Given the description of an element on the screen output the (x, y) to click on. 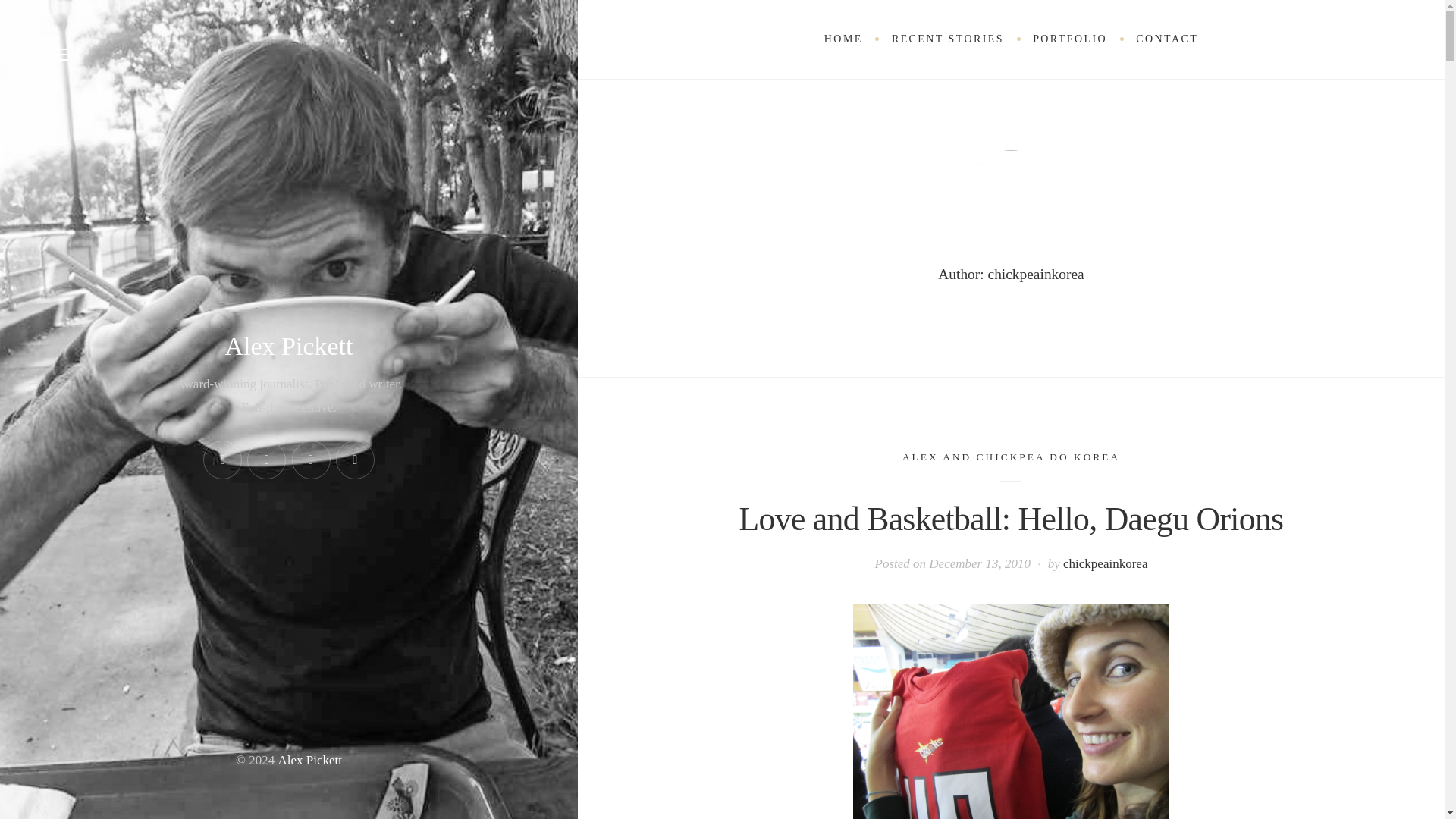
Alex Pickett (310, 759)
Daegu Orion's No. 1 fan! (1011, 711)
RECENT STORIES (947, 38)
HOME (843, 38)
ALEX AND CHICKPEA DO KOREA (1010, 456)
Love and Basketball: Hello, Daegu Orions (1011, 518)
Alex Pickett (288, 346)
CONTACT (1166, 38)
chickpeainkorea (1104, 563)
PORTFOLIO (1069, 38)
